Given the description of an element on the screen output the (x, y) to click on. 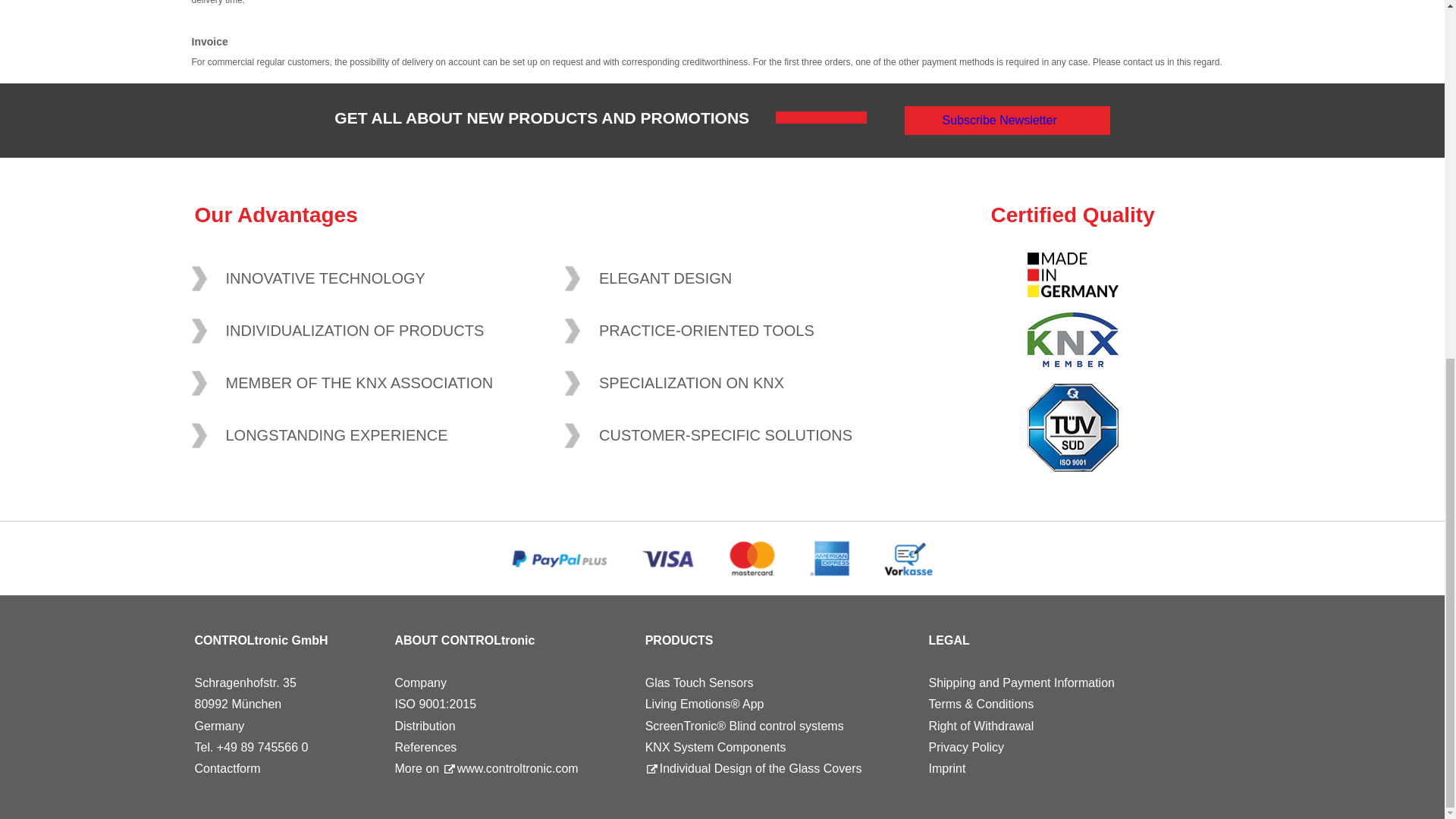
Vorkasse (908, 558)
American Express (829, 558)
ISO 9001 (1072, 427)
KNX Member (1072, 340)
Mastercard (751, 558)
Visa (667, 558)
PayPal (559, 558)
Made in Germany (1072, 274)
